Given the description of an element on the screen output the (x, y) to click on. 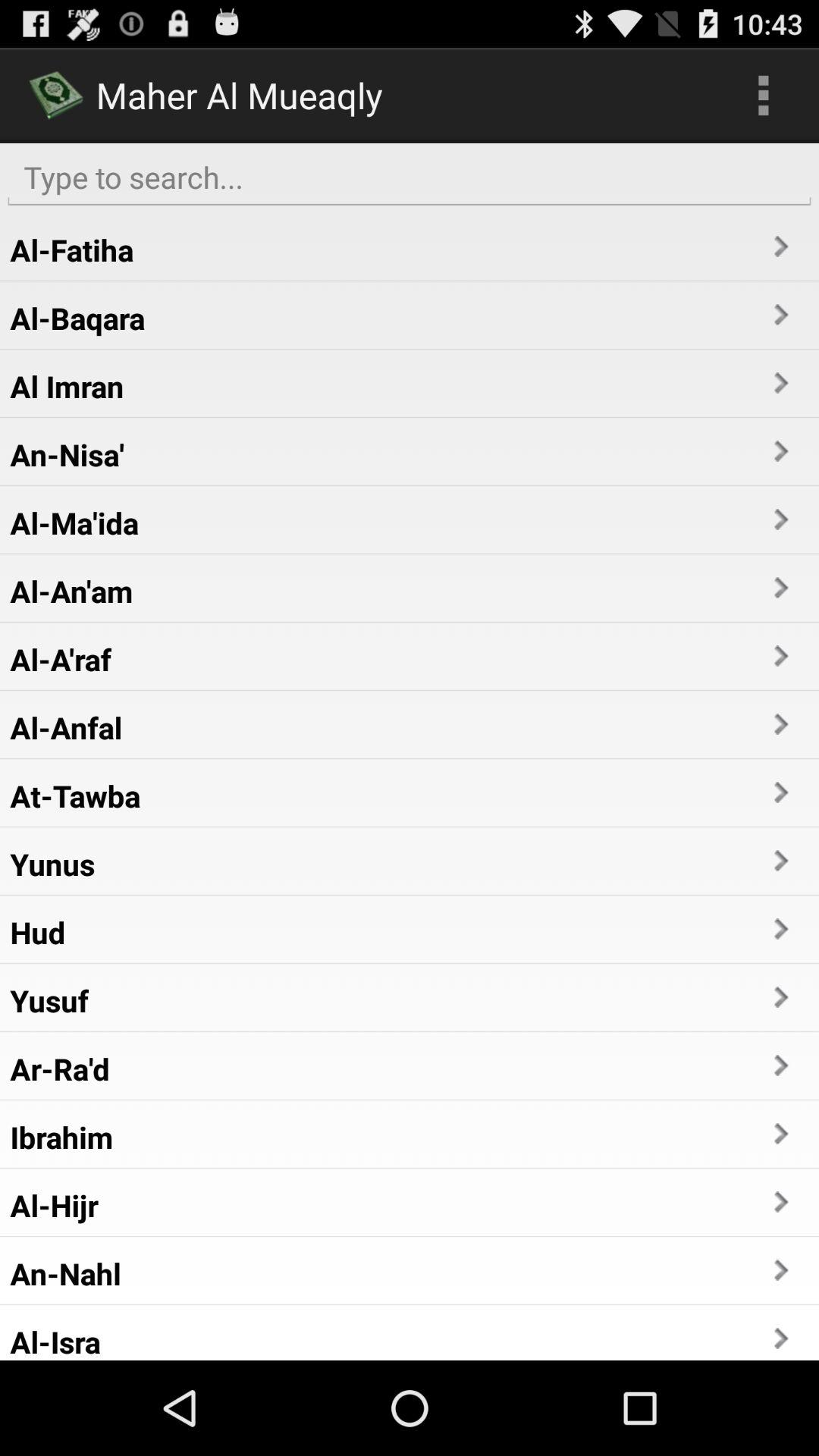
turn on the app next to the hud app (779, 928)
